Given the description of an element on the screen output the (x, y) to click on. 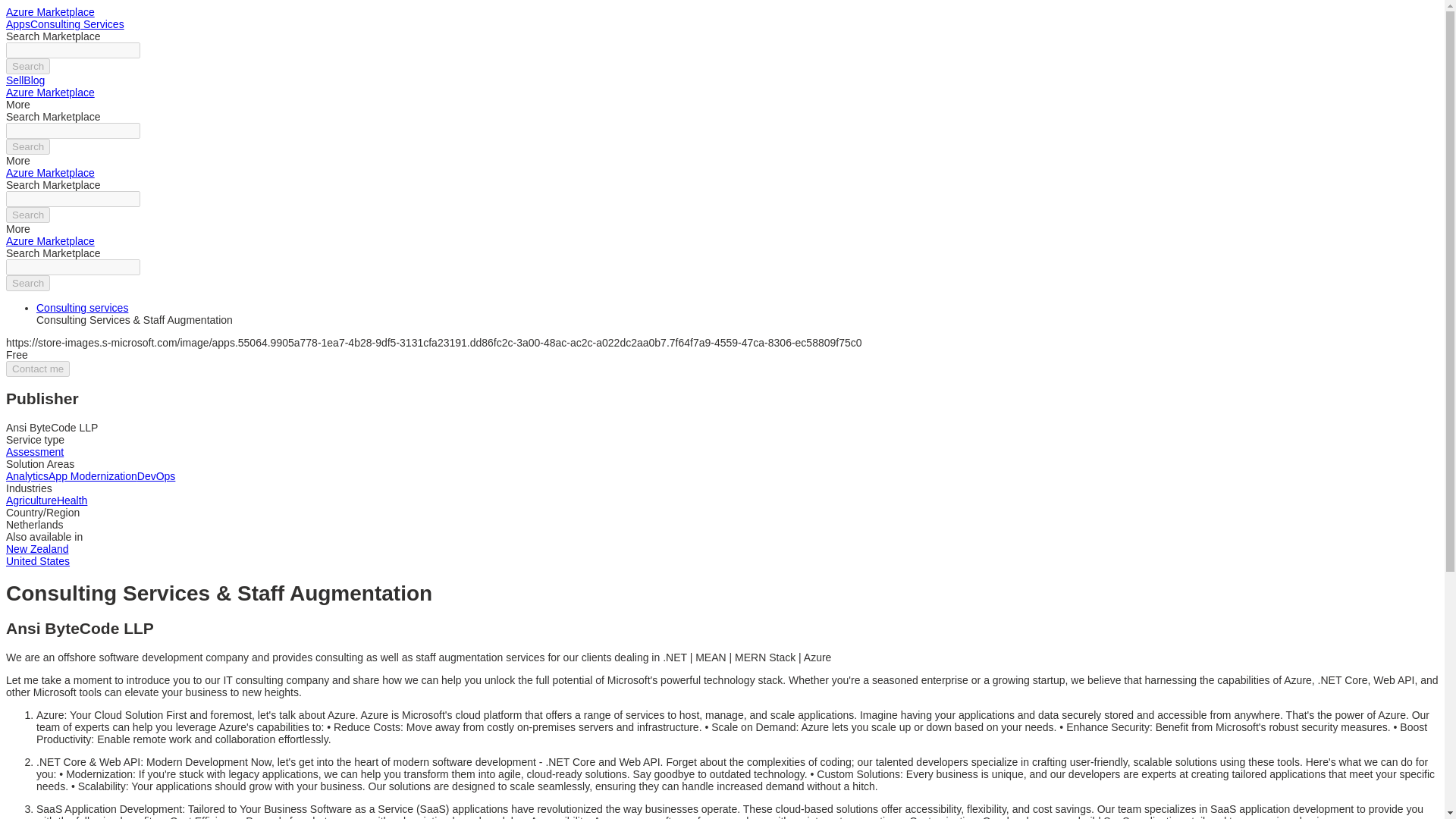
Azure Marketplace (49, 173)
Health (71, 500)
Apps (17, 24)
Contact me (37, 368)
App Modernization (92, 476)
Consulting services (82, 307)
Search (27, 214)
Blog (34, 80)
Azure Marketplace (49, 241)
Sell (14, 80)
Azure Marketplace (49, 11)
Assessment (34, 451)
Search (27, 146)
Azure Marketplace (49, 92)
Search (27, 66)
